Given the description of an element on the screen output the (x, y) to click on. 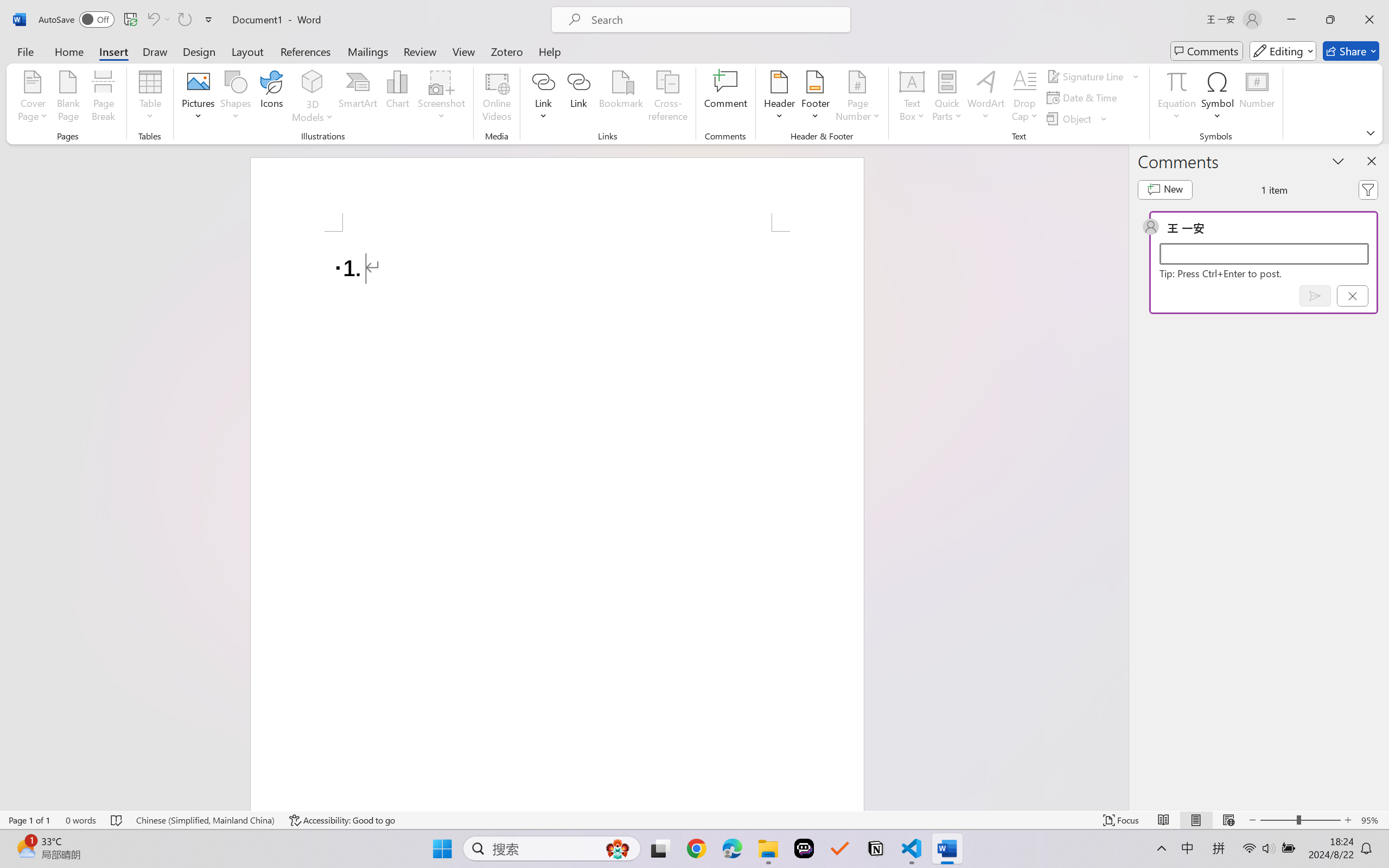
Object... (1077, 118)
Footer (815, 97)
Signature Line (1086, 75)
Number... (1256, 97)
Signature Line (1093, 75)
Bookmark... (620, 97)
